Given the description of an element on the screen output the (x, y) to click on. 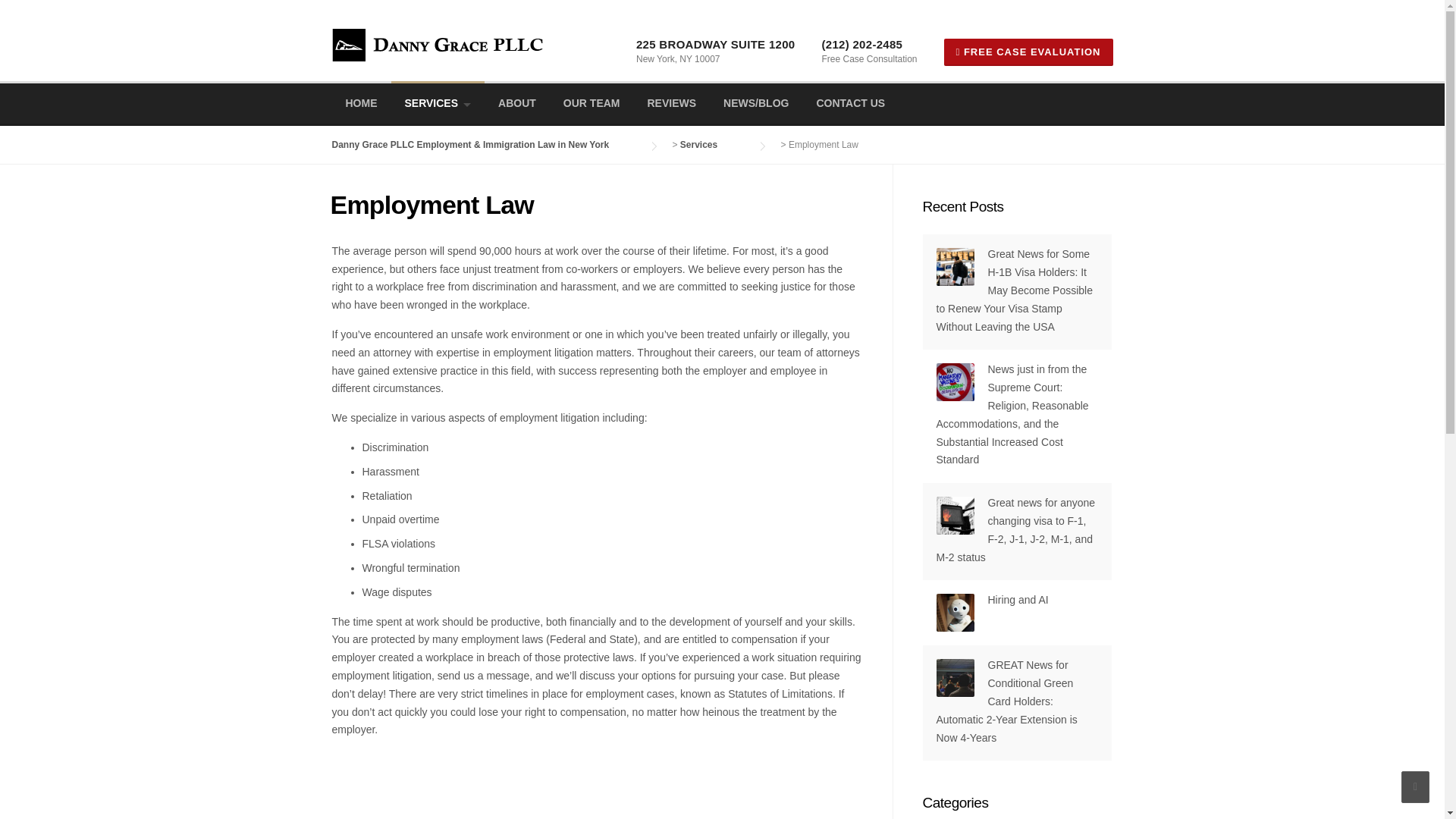
OUR TEAM (591, 104)
REVIEWS (671, 104)
SERVICES (437, 103)
Services (713, 144)
Hiring and AI (1017, 599)
CONTACT US (850, 104)
Go to Services. (713, 144)
Hiring and AI (1017, 599)
FREE CASE EVALUATION (1028, 52)
225 BROADWAY SUITE 1200 (715, 43)
